Given the description of an element on the screen output the (x, y) to click on. 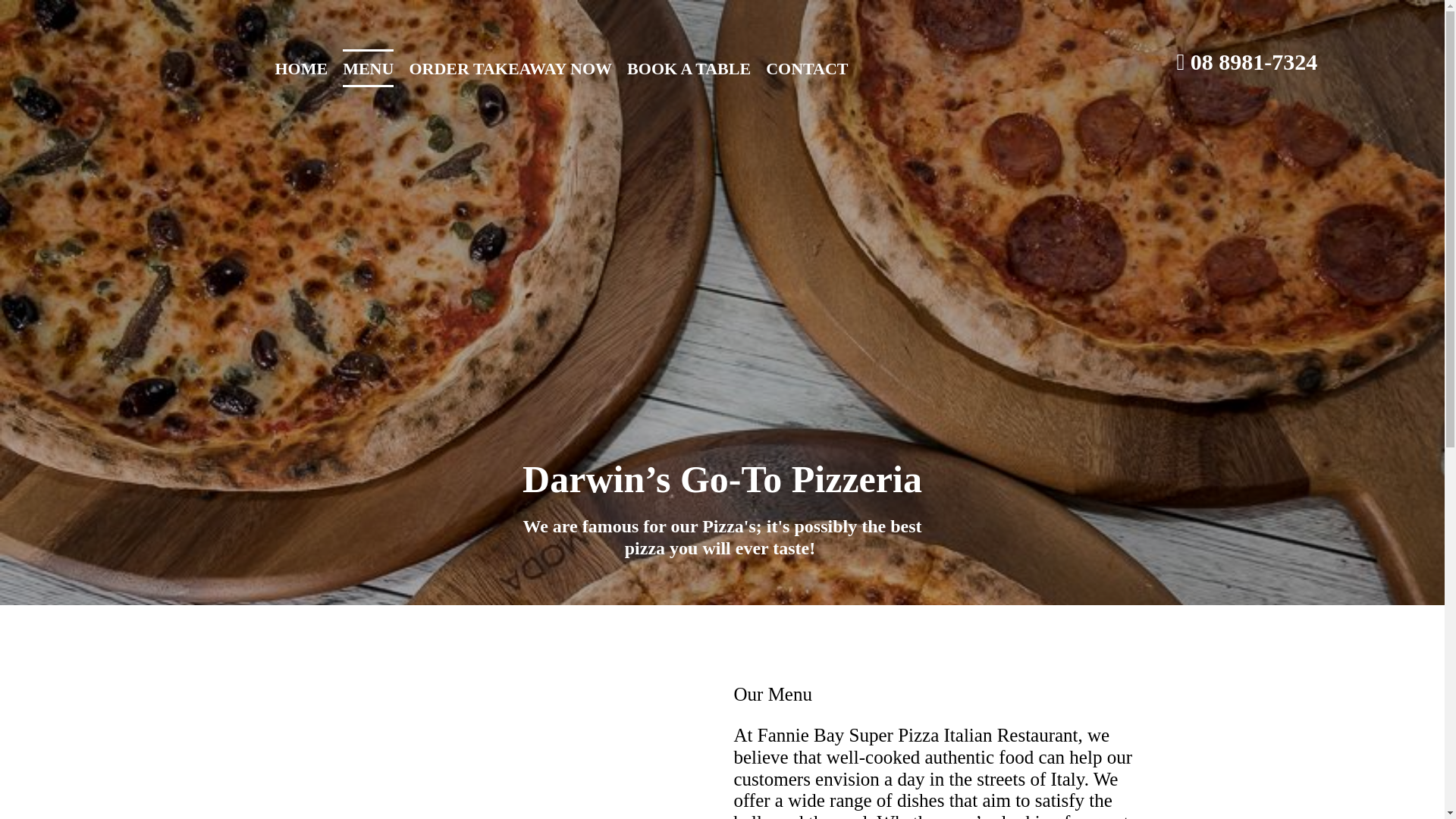
BOOK A TABLE Element type: text (688, 67)
ORDER TAKEAWAY NOW Element type: text (509, 67)
MENU Element type: text (367, 68)
CONTACT Element type: text (806, 67)
08 8981-7324 Element type: text (1253, 61)
HOME Element type: text (300, 67)
